Given the description of an element on the screen output the (x, y) to click on. 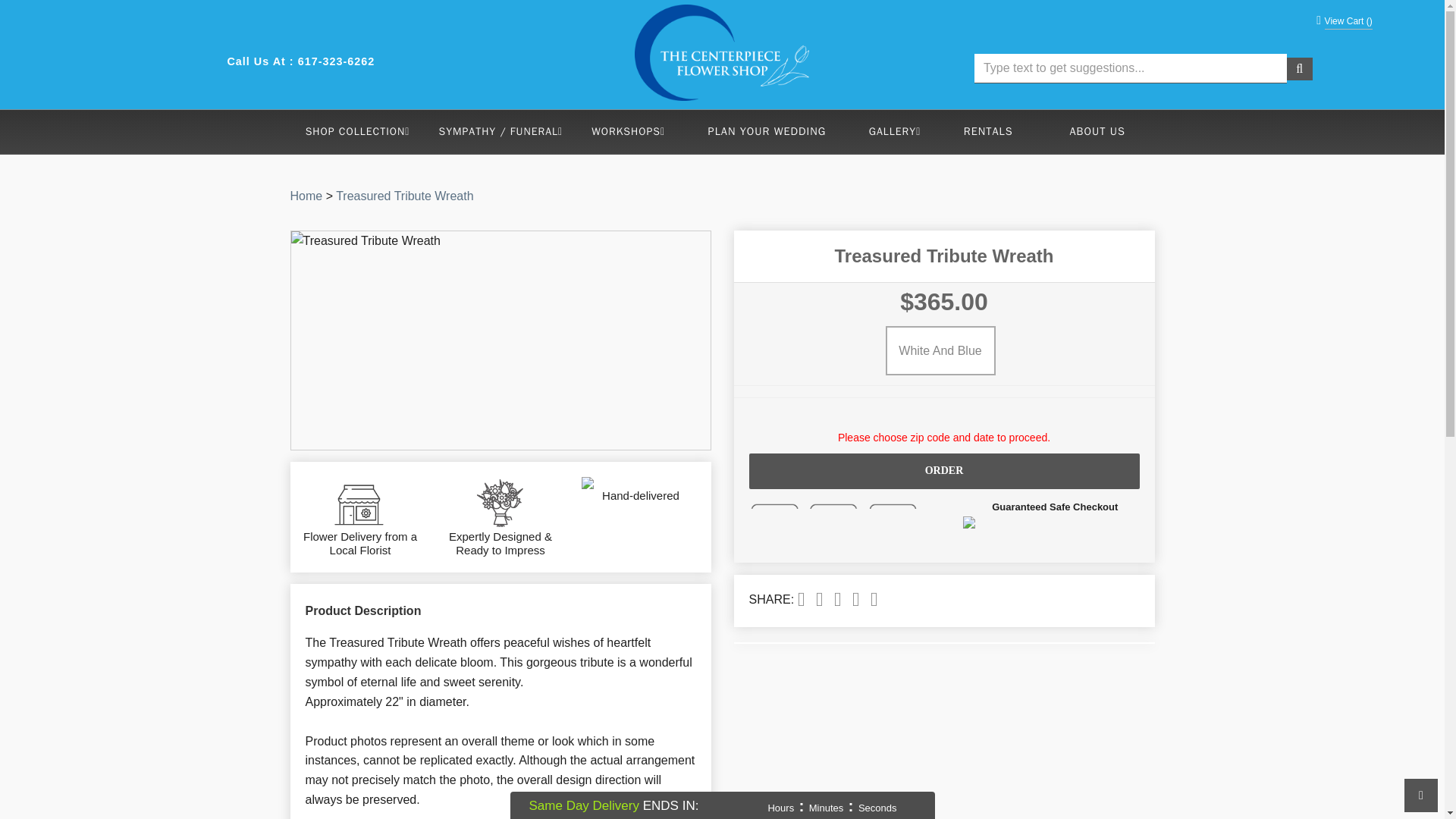
617-323-6262 (336, 61)
PLAN YOUR WEDDING (767, 130)
SHOP COLLECTION (357, 132)
Treasured (404, 195)
WORKSHOPS (628, 132)
Home (305, 195)
